Given the description of an element on the screen output the (x, y) to click on. 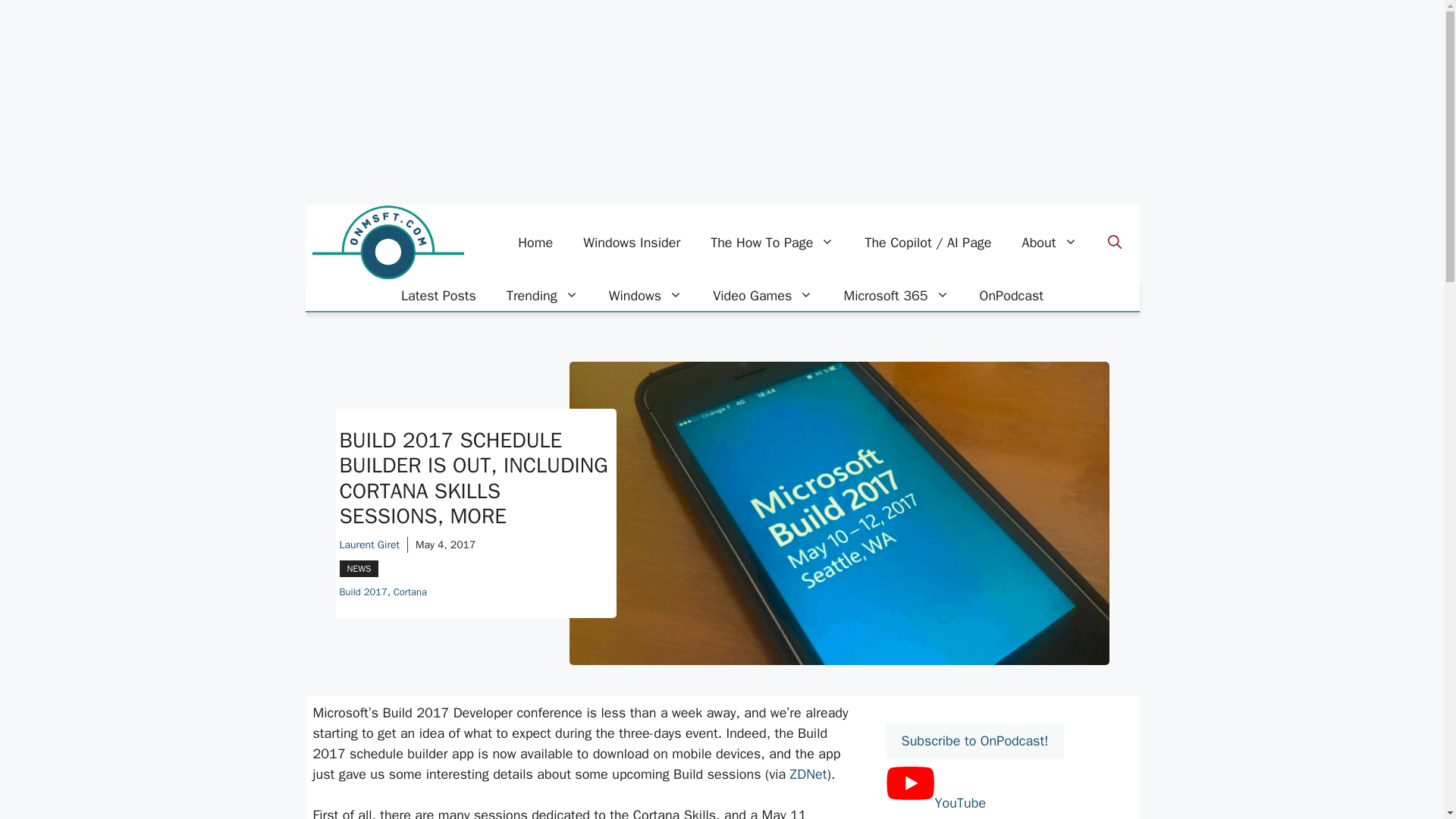
Home (534, 242)
Trending (543, 295)
The How To Page (771, 242)
Windows (645, 295)
Video Games (762, 295)
About (1050, 242)
Windows Insider (631, 242)
Latest Posts (438, 295)
